Given the description of an element on the screen output the (x, y) to click on. 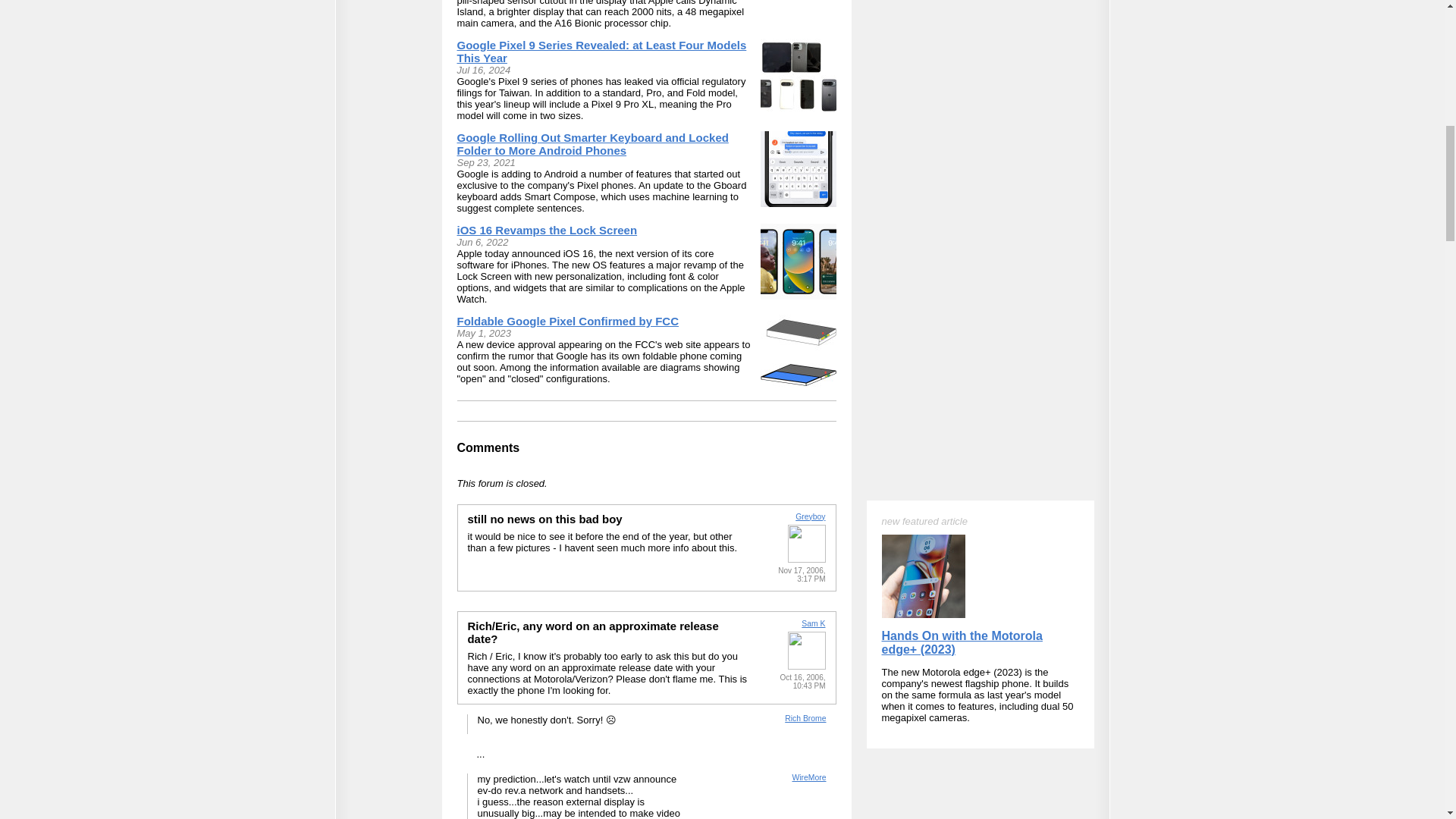
Comments (488, 447)
WireMore (808, 777)
Greyboy (809, 516)
Sam K (813, 623)
Rich Brome (804, 718)
